Given the description of an element on the screen output the (x, y) to click on. 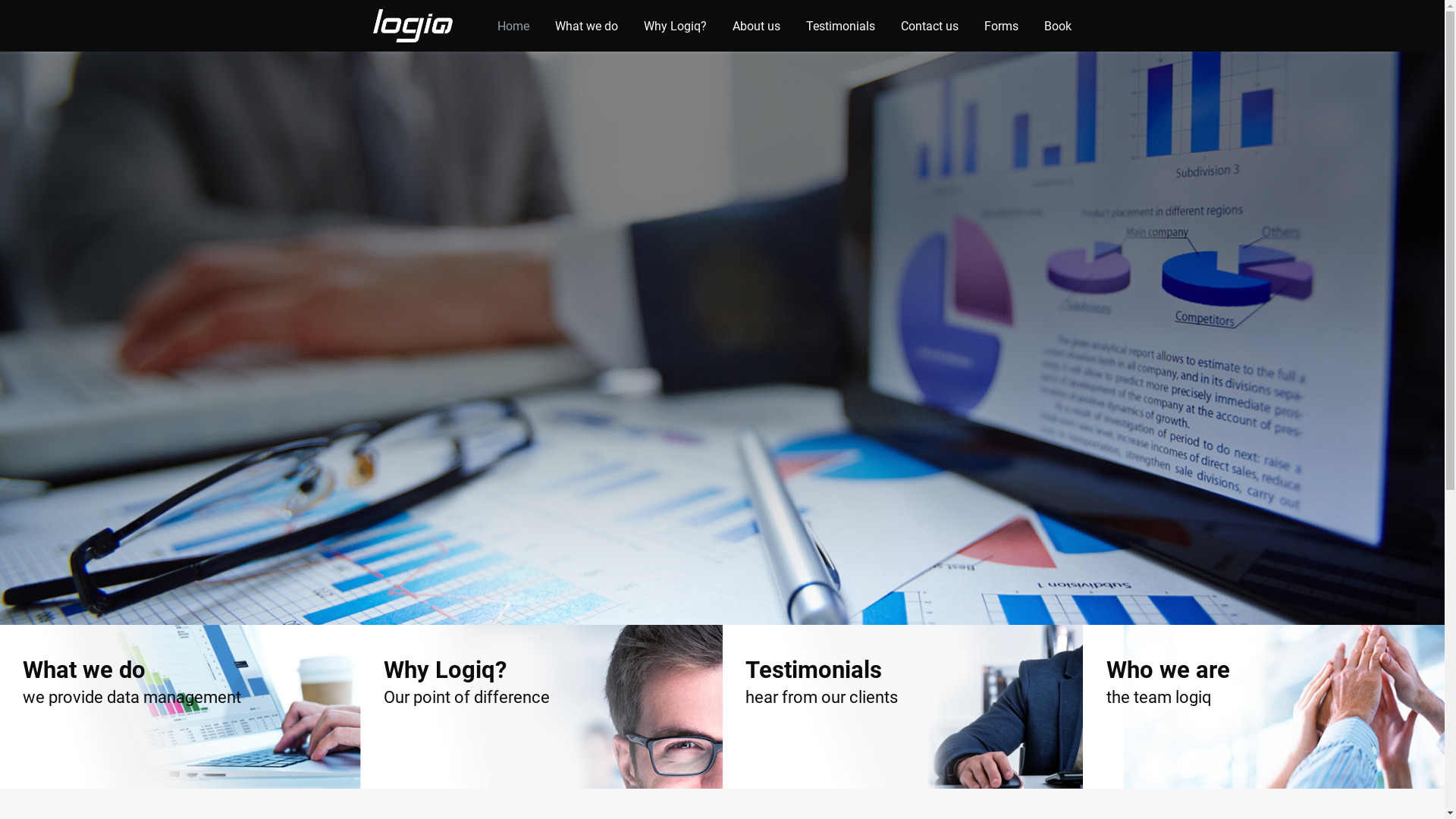
Testimonials
hear from our clients Element type: text (901, 706)
Testimonials Element type: text (840, 25)
Who we are
the team logiq Element type: text (1263, 706)
Why Logiq?
Our point of difference Element type: text (540, 706)
About us Element type: text (756, 25)
Contact us Element type: text (929, 25)
Forms Element type: text (1001, 25)
Why Logiq? Element type: text (674, 25)
Logiq Element type: text (416, 25)
What we do Element type: text (586, 25)
Book Element type: text (1057, 25)
What we do
we provide data management Element type: text (180, 706)
Home Element type: text (513, 25)
